Given the description of an element on the screen output the (x, y) to click on. 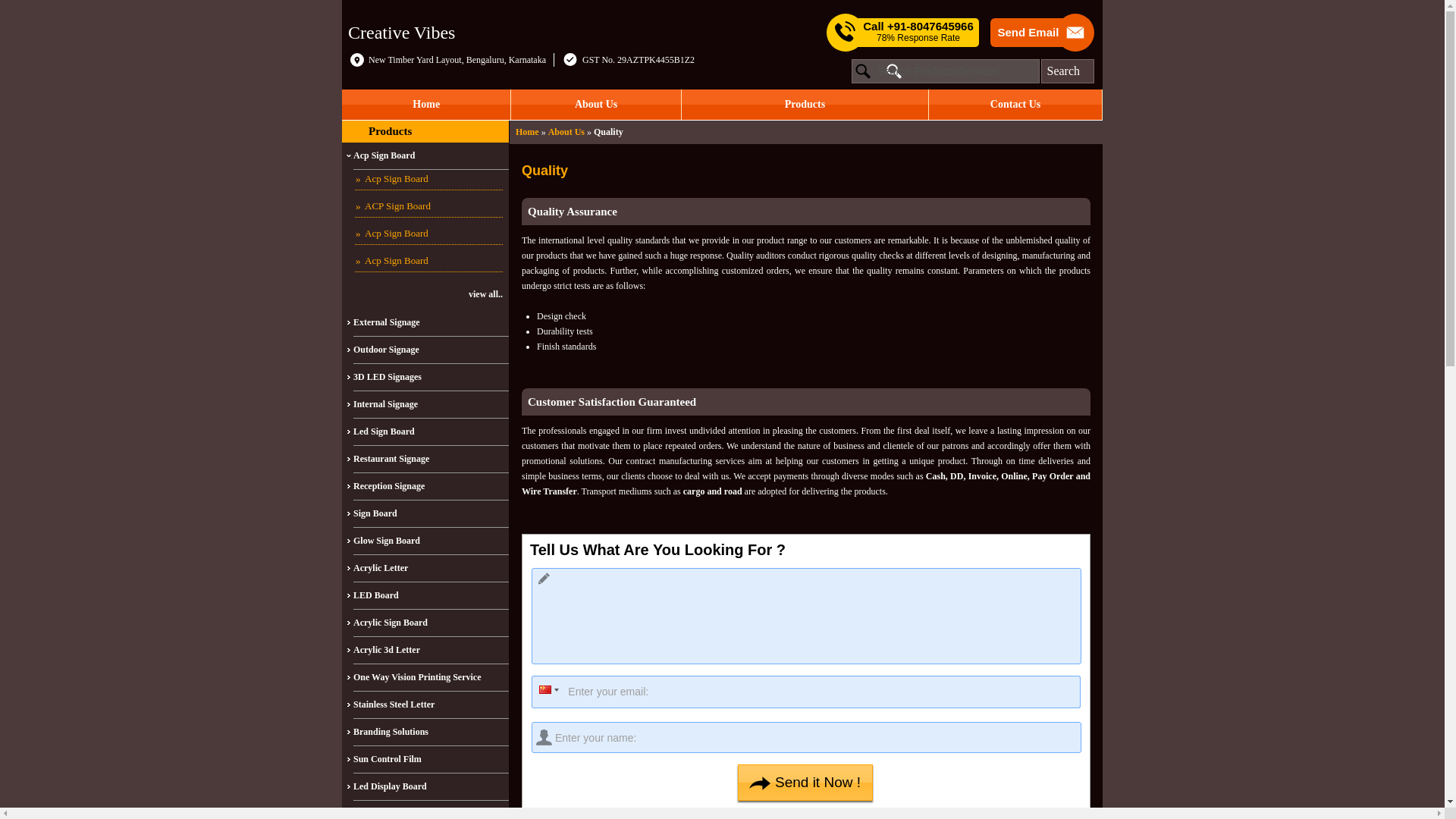
Send SMS Free (917, 32)
Enter your name: (806, 736)
Products (390, 131)
3D LED Signages (430, 377)
Home (526, 131)
About Us (595, 104)
External Signage (430, 322)
Led Sign Board (430, 431)
Acp Sign Board (428, 234)
About Us (566, 131)
Acp Sign Board (428, 261)
view all.. (422, 294)
Enter your email: (805, 691)
Creative Vibes (400, 32)
Acp Sign Board (428, 179)
